Given the description of an element on the screen output the (x, y) to click on. 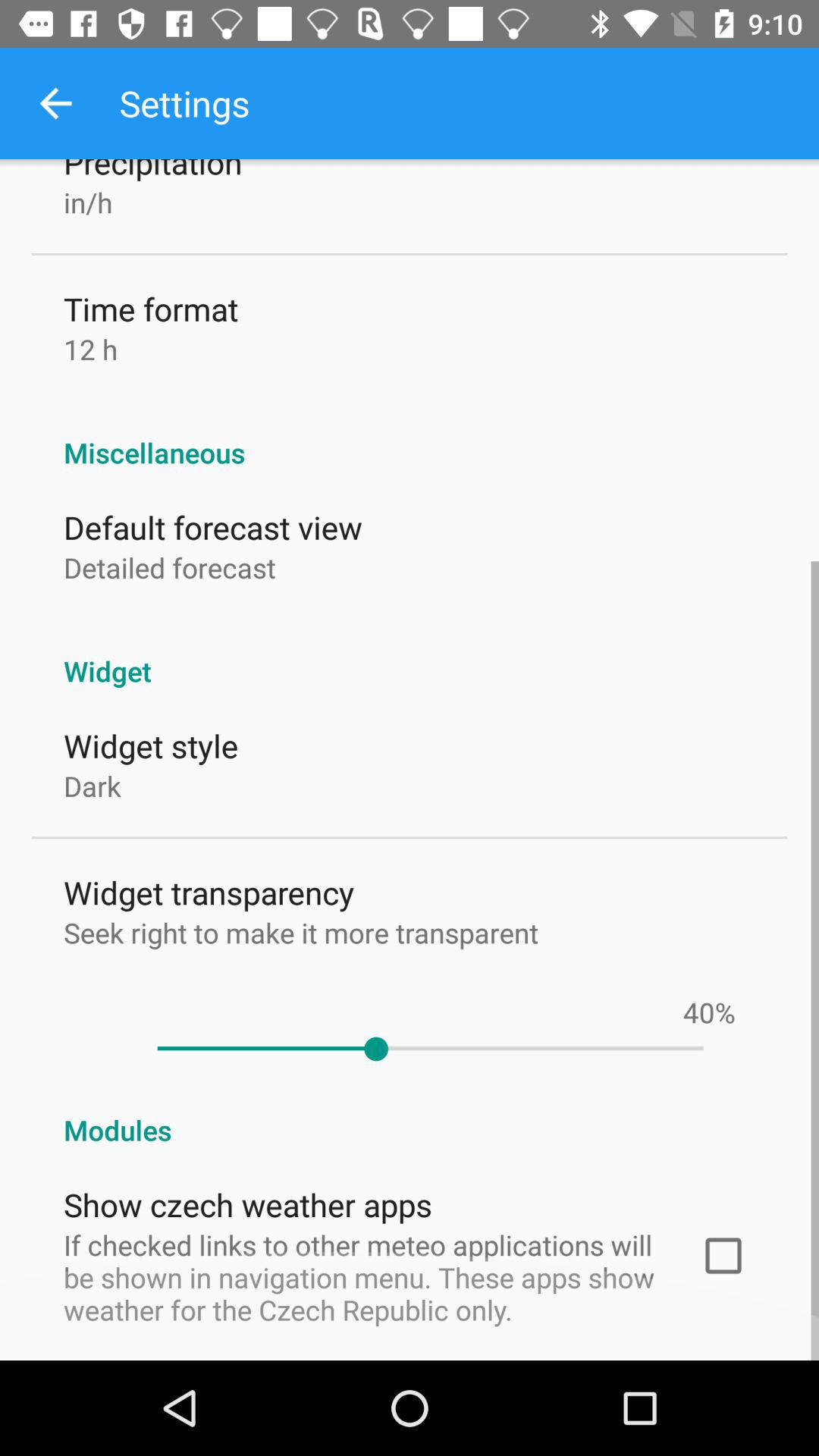
turn on the icon to the left of settings item (55, 103)
